Given the description of an element on the screen output the (x, y) to click on. 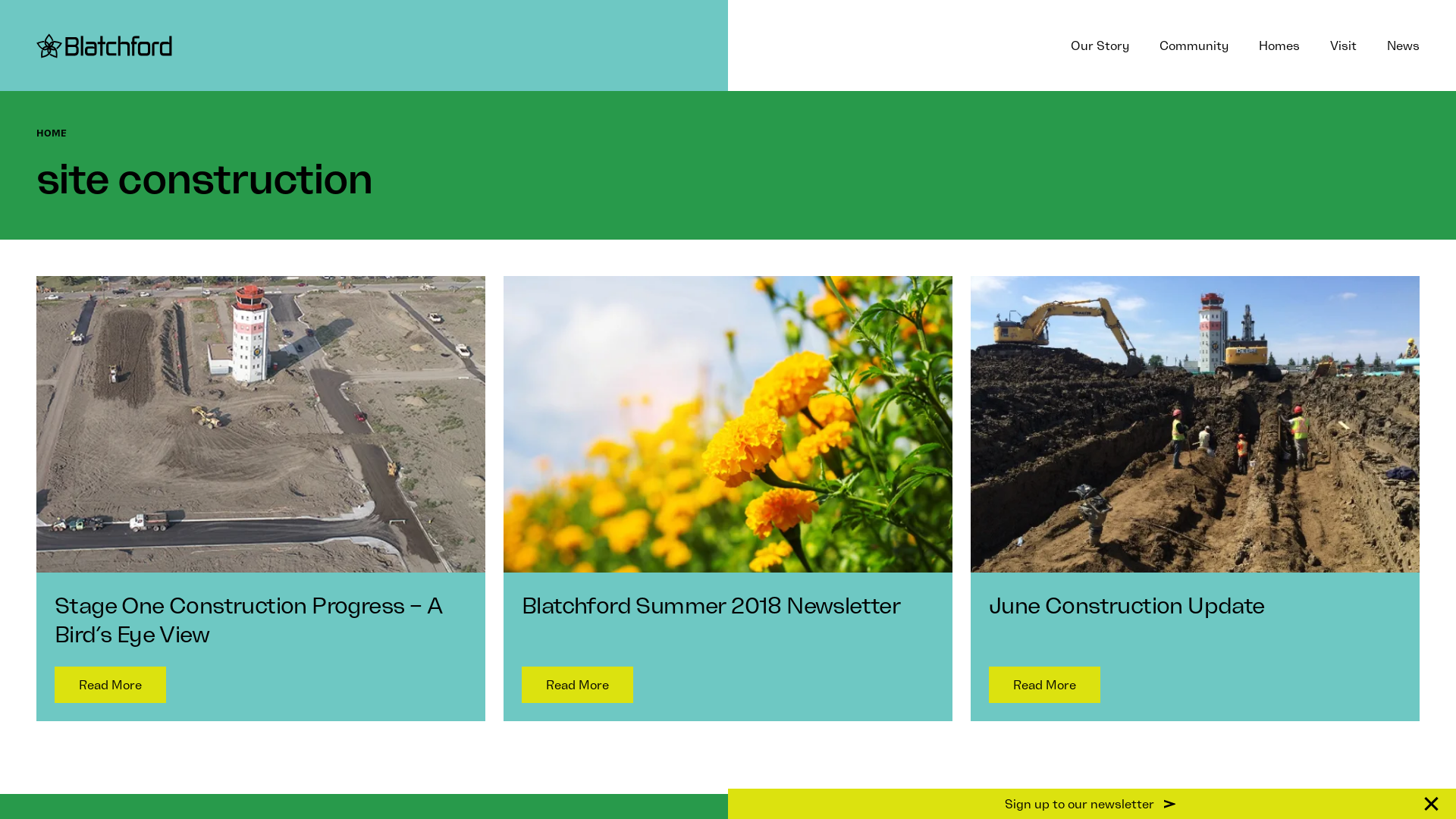
Sign up to our newsletter Element type: text (1091, 803)
Community Element type: text (1193, 45)
Homes Element type: text (1278, 45)
Read More Element type: text (577, 684)
Visit Element type: text (1342, 45)
Read More Element type: text (110, 684)
Read More Element type: text (1044, 684)
News Element type: text (1402, 45)
HOME Element type: text (51, 133)
Our Story Element type: text (1099, 45)
